Given the description of an element on the screen output the (x, y) to click on. 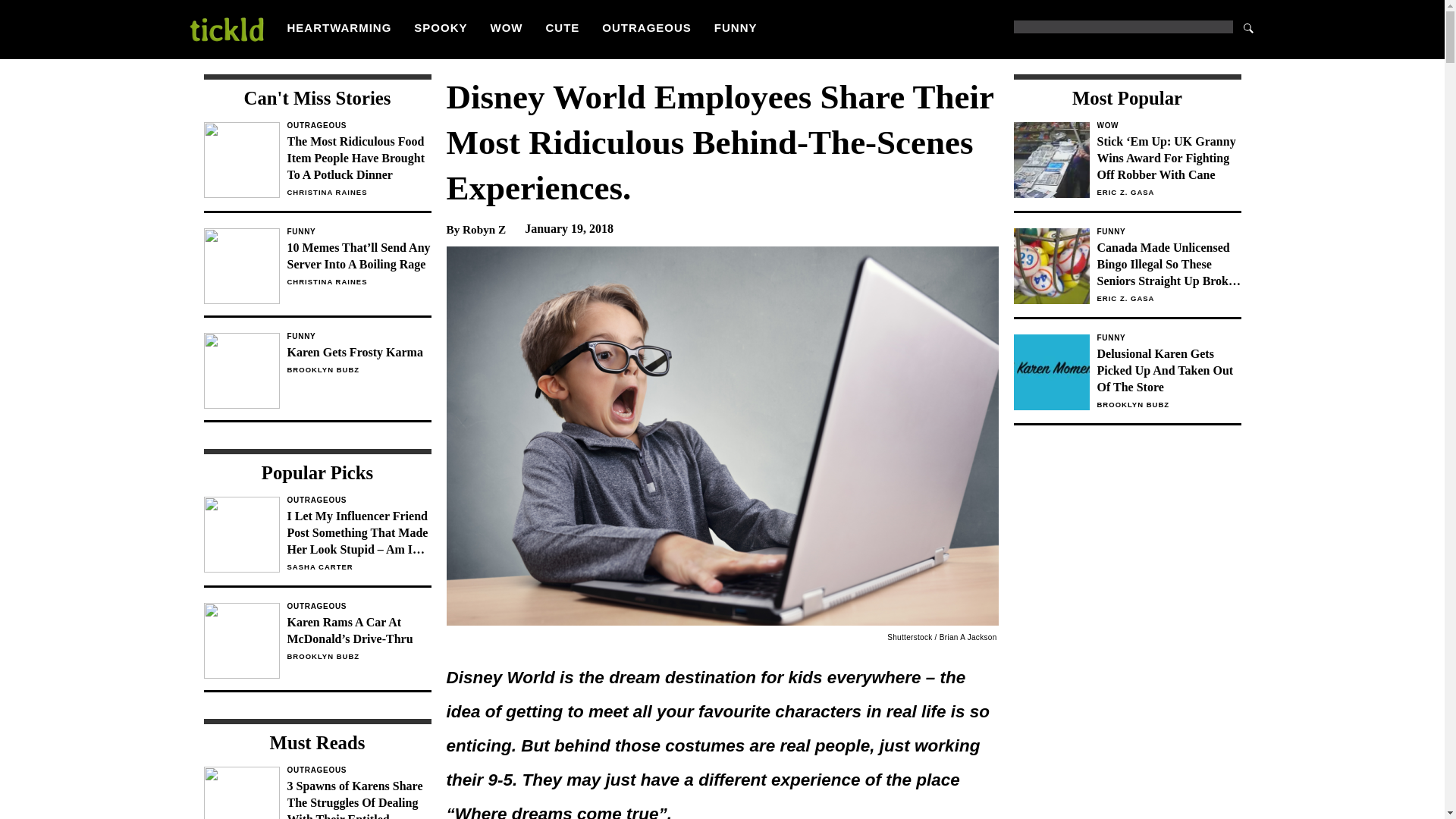
Delusional Karen Gets Picked Up And Taken Out Of The Store (1168, 370)
OUTRAGEOUS (646, 26)
HEARTWARMING (338, 26)
Funny (358, 231)
WOW (1168, 125)
Outrageous (358, 125)
Search (1248, 27)
CUTE (562, 26)
FUNNY (735, 26)
WOW (506, 26)
By Robyn Z (475, 228)
Search (1248, 27)
Funny (1168, 338)
Funny (1168, 231)
